Given the description of an element on the screen output the (x, y) to click on. 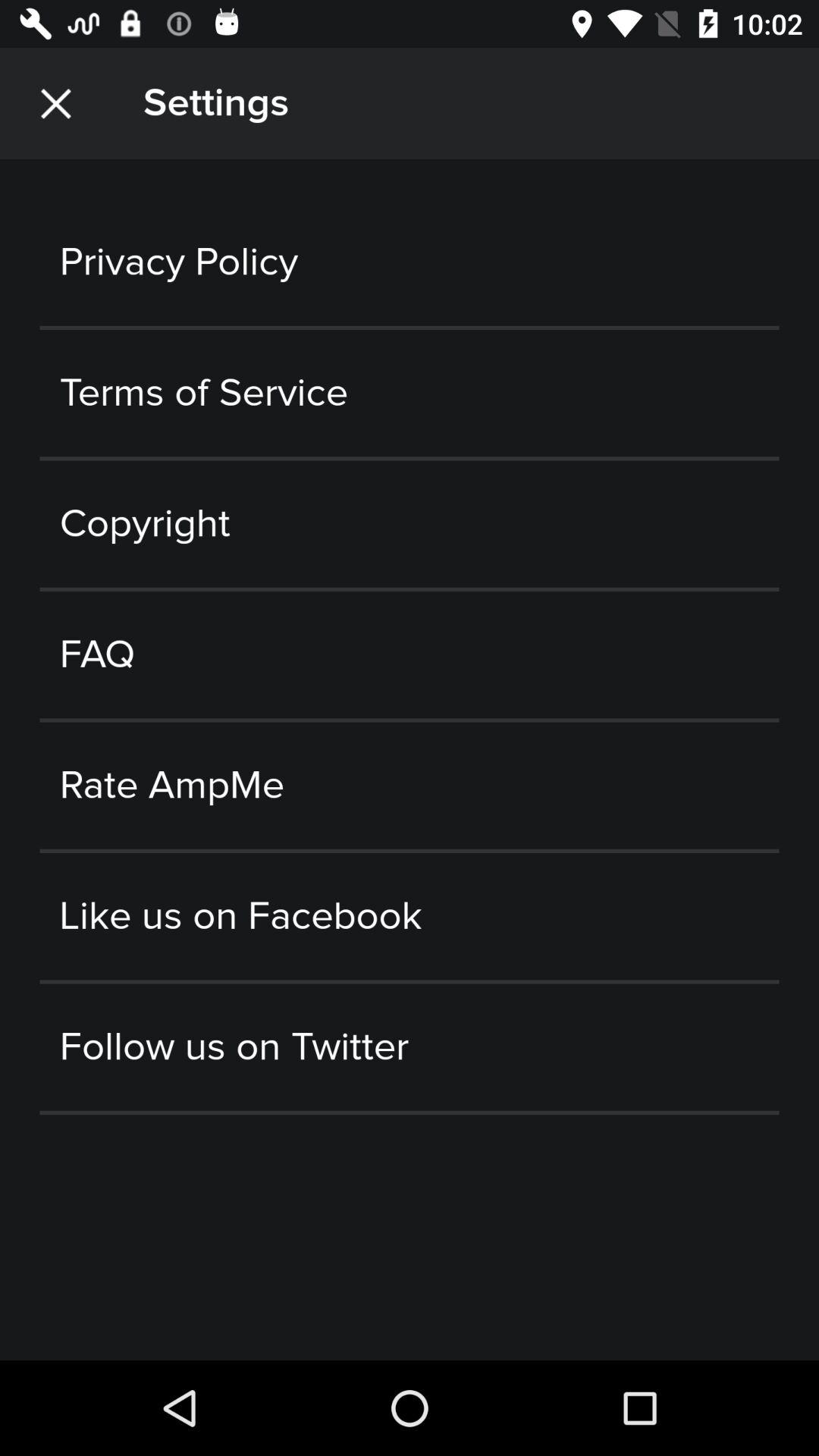
open privacy policy (409, 262)
